Given the description of an element on the screen output the (x, y) to click on. 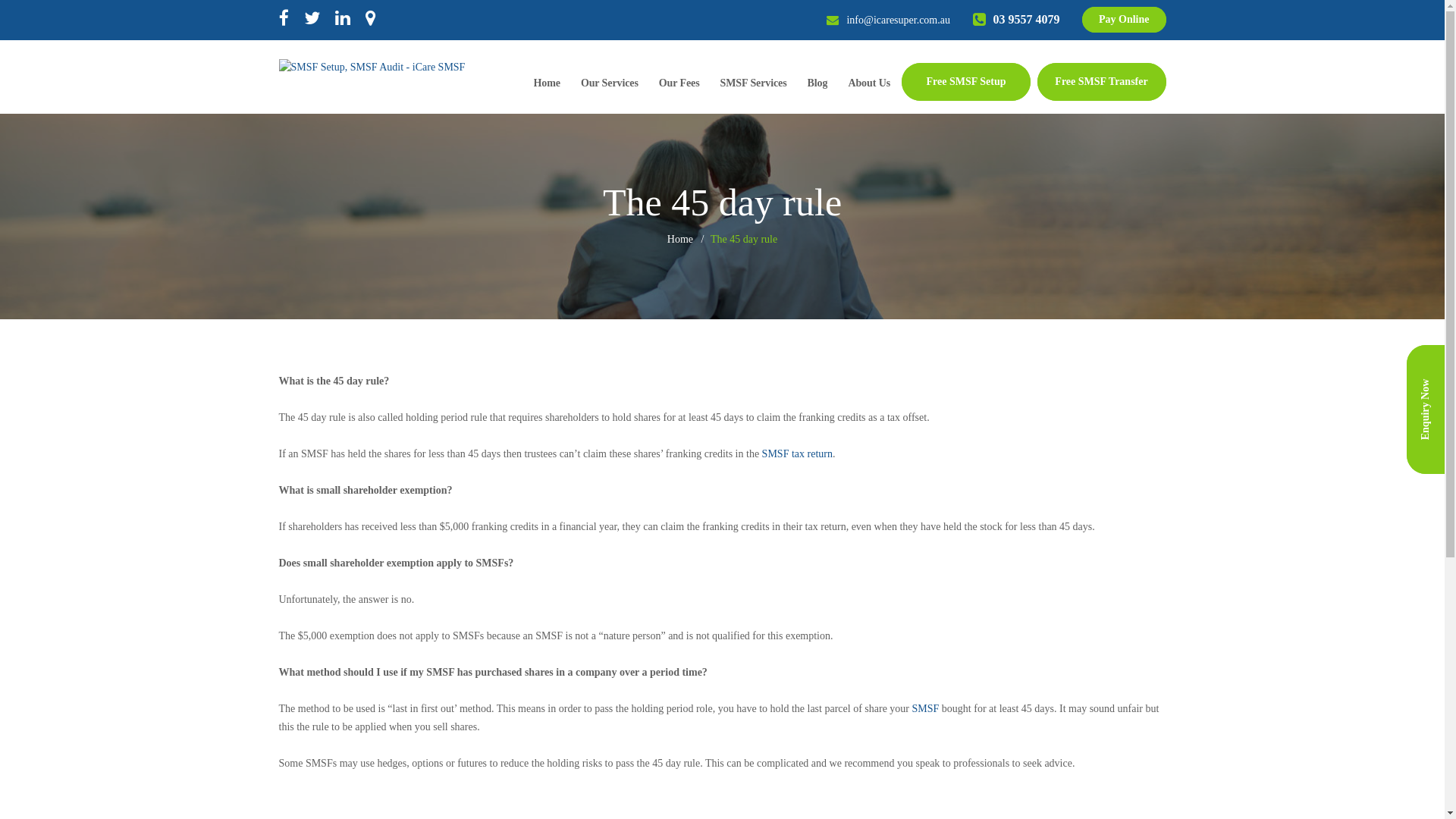
Free SMSF Transfer Element type: text (1101, 81)
Pay Online Element type: text (1124, 19)
SMSF Services Element type: text (753, 85)
SMSF Setup, SMSF Audit - iCare SMSF Element type: hover (372, 66)
Home Element type: text (680, 239)
Home Element type: text (546, 85)
SMSF Element type: text (925, 708)
Our Services Element type: text (609, 85)
Blog Element type: text (817, 85)
SMSF tax return Element type: text (797, 453)
Google Element type: hover (370, 19)
info@icaresuper.com.au Element type: text (898, 19)
Facebook Element type: hover (283, 19)
About Us Element type: text (868, 85)
Our Fees Element type: text (678, 85)
Twitter Element type: hover (311, 19)
Free SMSF Setup Element type: text (965, 81)
Linkedin Element type: hover (342, 19)
03 9557 4079 Element type: text (1025, 19)
